Given the description of an element on the screen output the (x, y) to click on. 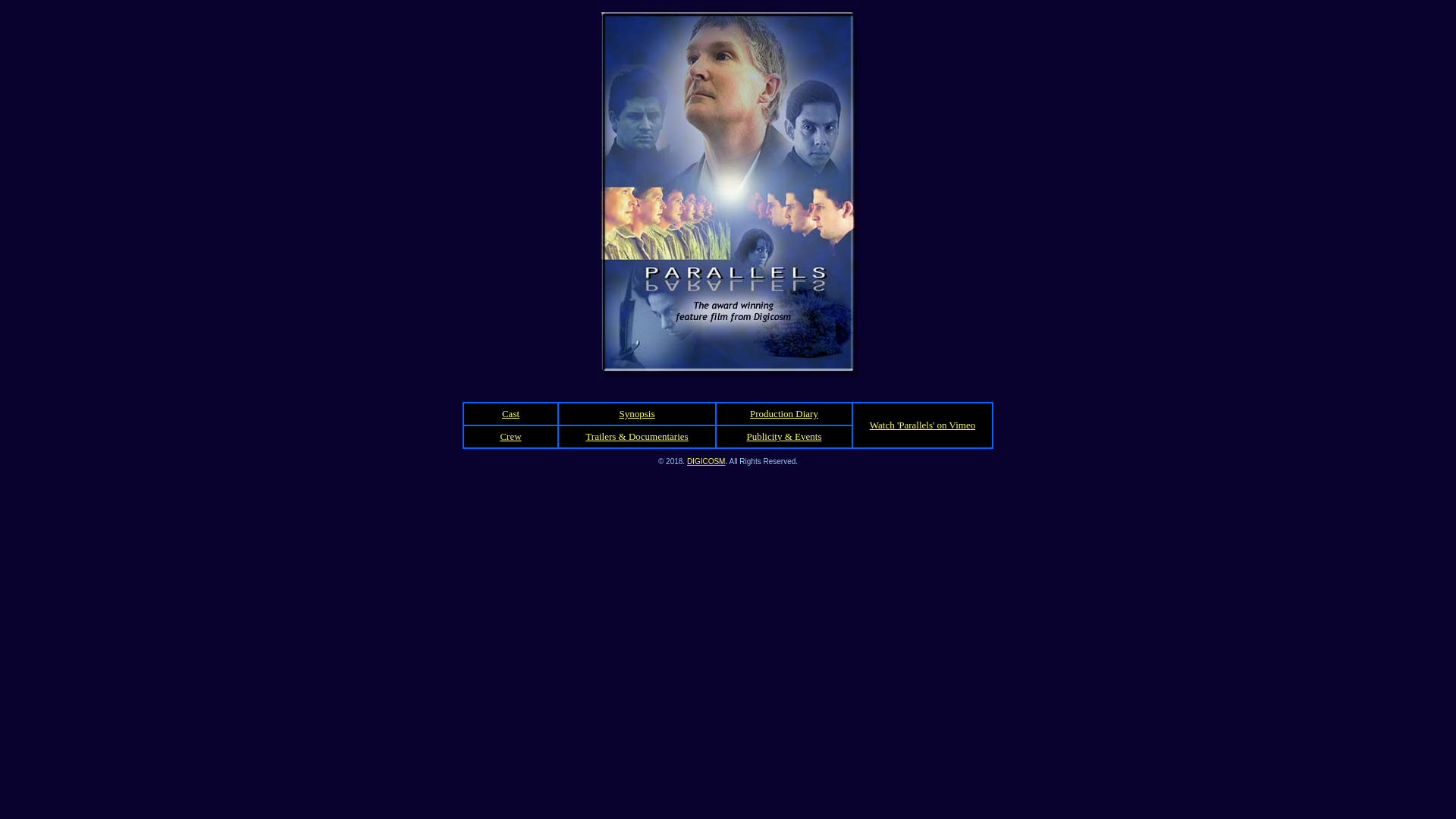
Crew Element type: text (509, 436)
Watch 'Parallels' on Vimeo Element type: text (922, 424)
Production Diary Element type: text (783, 413)
Publicity & Events Element type: text (784, 436)
DIGICOSM Element type: text (706, 460)
Trailers & Documentaries Element type: text (636, 436)
Synopsis Element type: text (637, 413)
Cast Element type: text (510, 413)
